Given the description of an element on the screen output the (x, y) to click on. 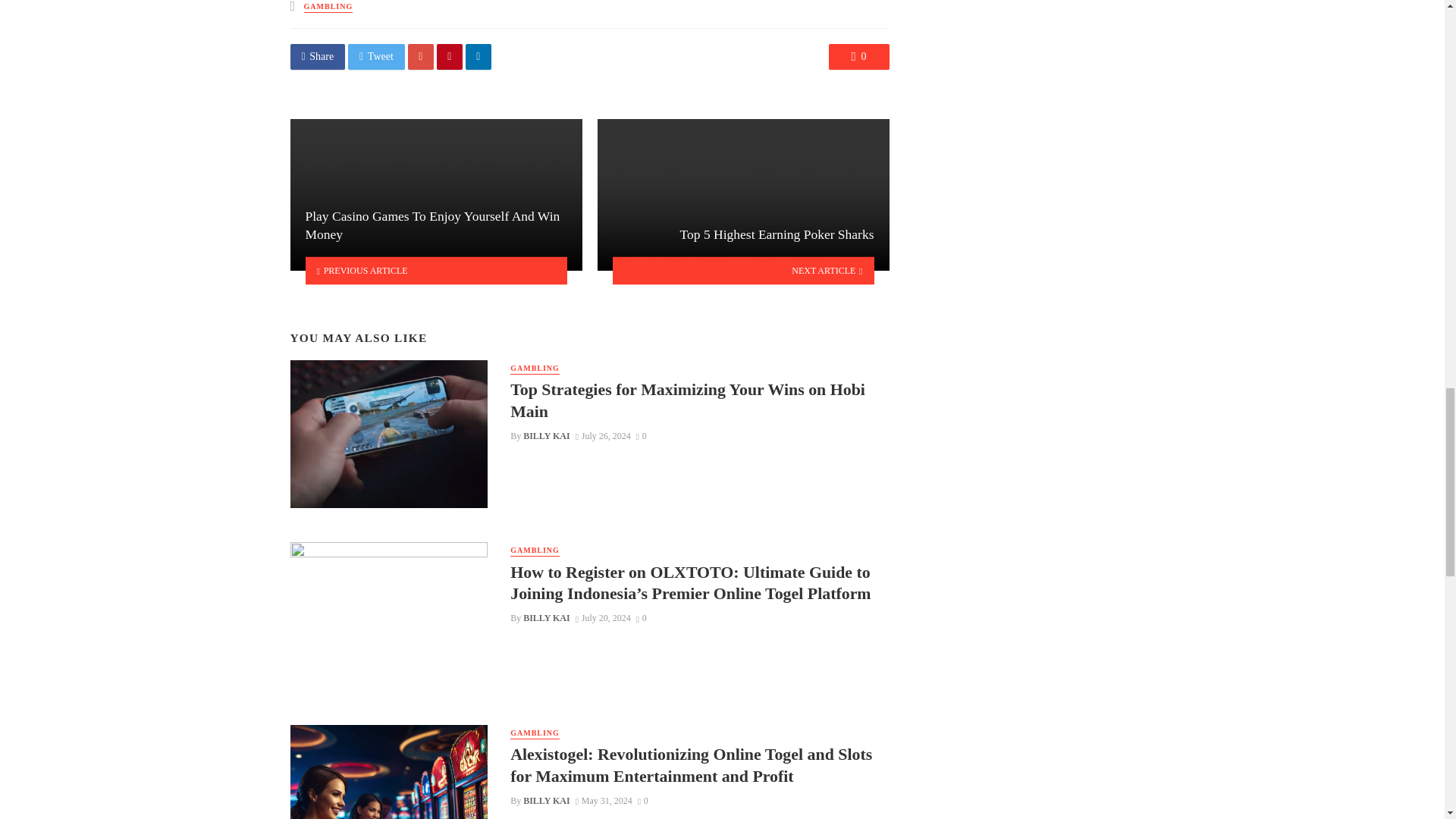
GAMBLING (535, 368)
Share on Linkedin (478, 56)
Tweet (375, 56)
0 Comments (858, 56)
BILLY KAI (545, 435)
Share (317, 56)
PREVIOUS ARTICLE (434, 270)
Share on Facebook (317, 56)
Top Strategies for Maximizing Your Wins on Hobi Main (699, 400)
Share on Pinterest (449, 56)
0 (641, 435)
0 (858, 56)
Share on Twitter (375, 56)
NEXT ARTICLE (742, 270)
GAMBLING (328, 7)
